Given the description of an element on the screen output the (x, y) to click on. 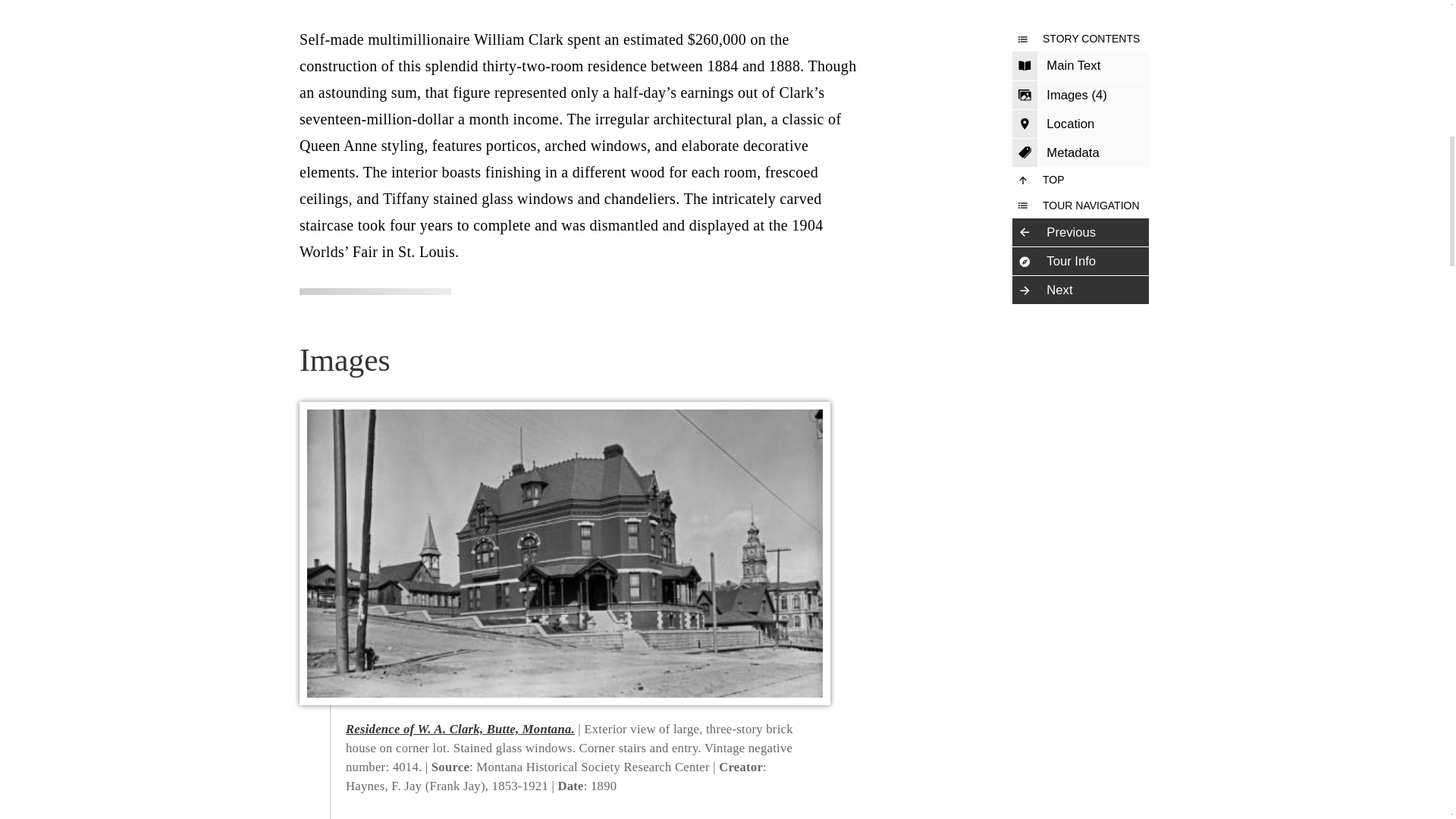
Skip to Images (1079, 95)
Previous (1079, 232)
Tour Navigation (1079, 206)
Tour Info (1079, 261)
TOP (1079, 180)
Location (1079, 123)
Main Text (1079, 65)
Skip to Map Location (1079, 123)
Return to Top (1079, 180)
Skip to Metadata (1079, 152)
